Given the description of an element on the screen output the (x, y) to click on. 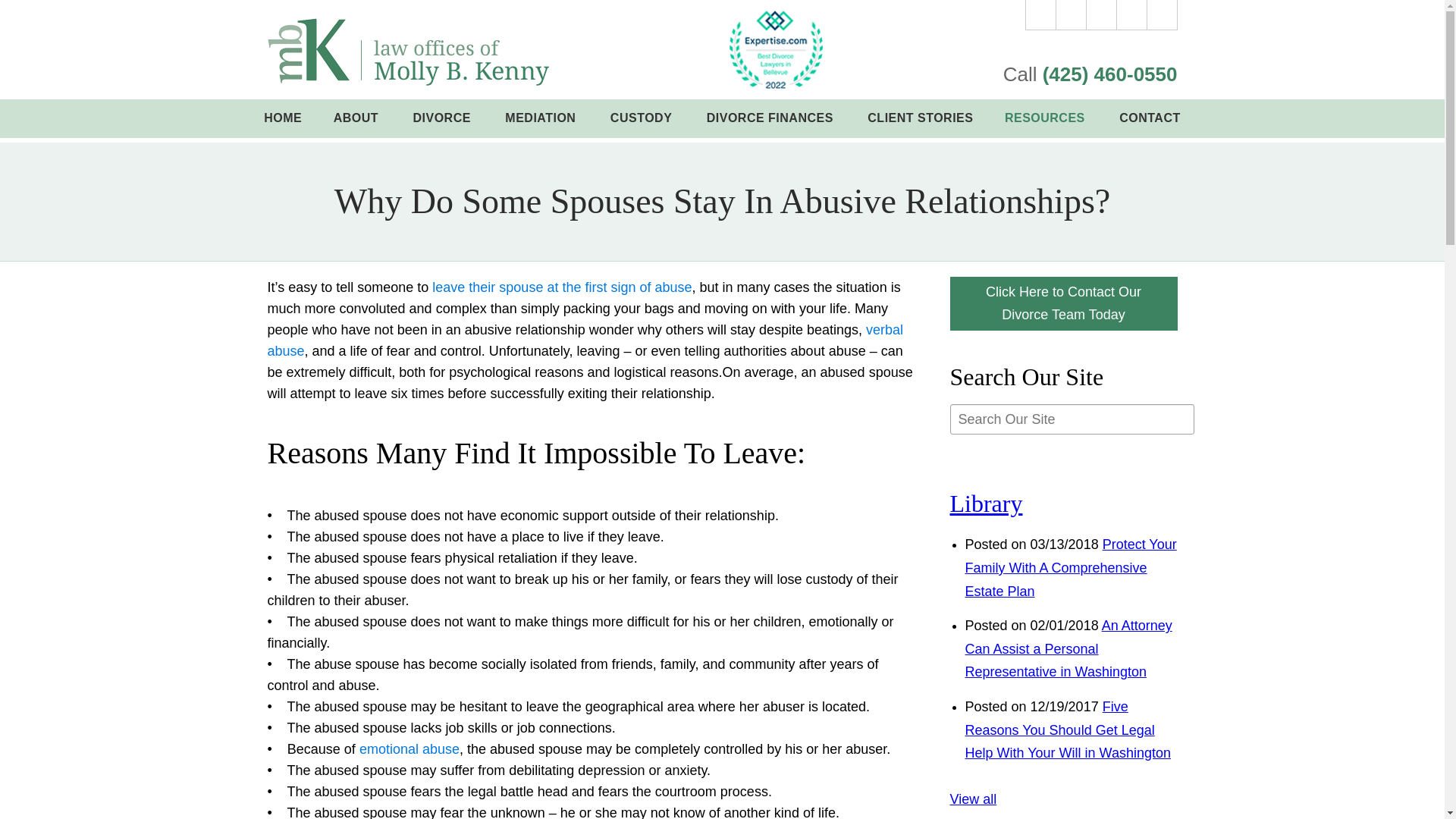
HOME (282, 118)
ABOUT (357, 118)
DIVORCE (443, 118)
MEDIATION (542, 118)
CUSTODY (642, 118)
Search (1161, 15)
